Given the description of an element on the screen output the (x, y) to click on. 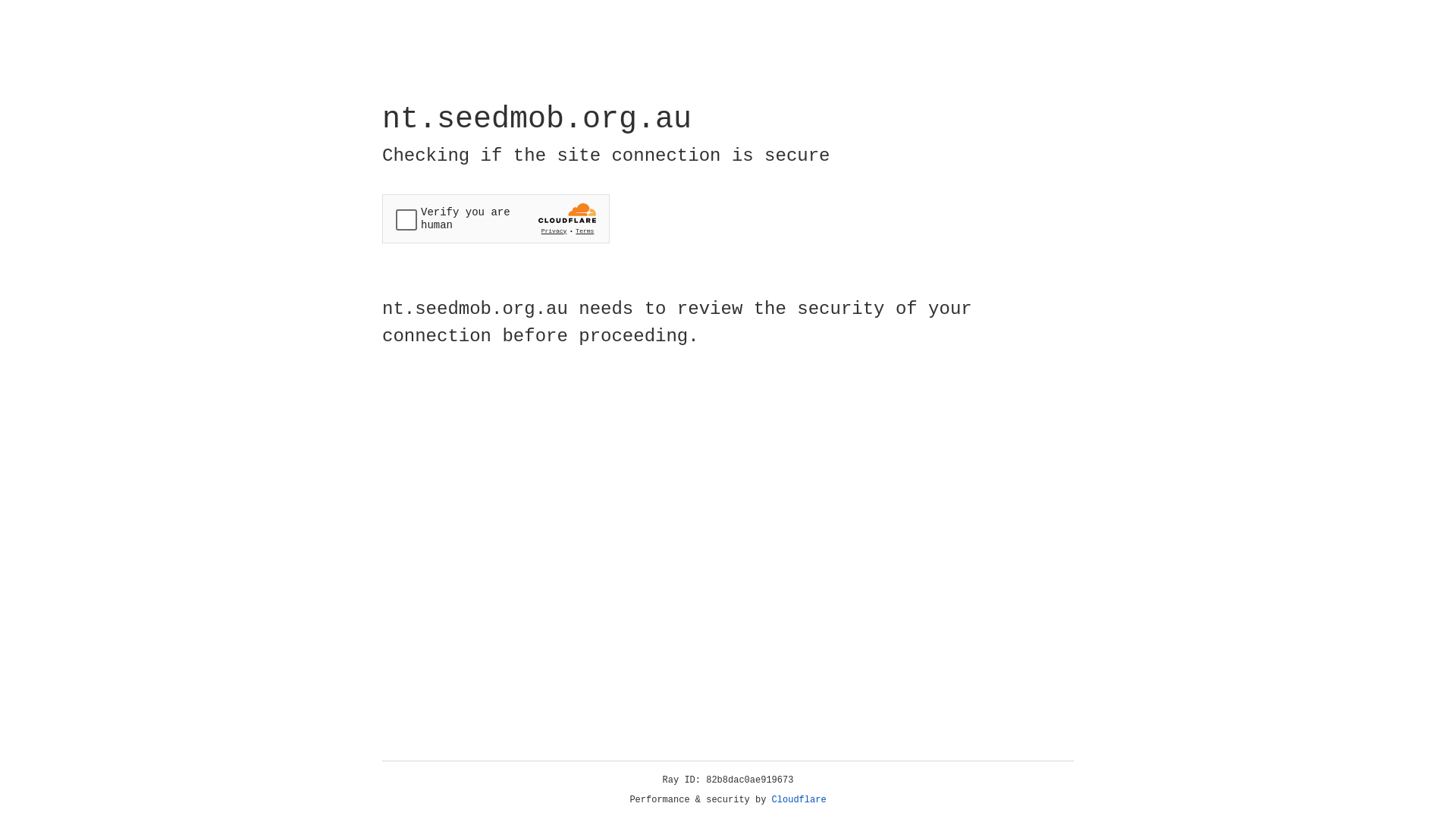
Cloudflare Element type: text (798, 799)
Widget containing a Cloudflare security challenge Element type: hover (495, 218)
